Given the description of an element on the screen output the (x, y) to click on. 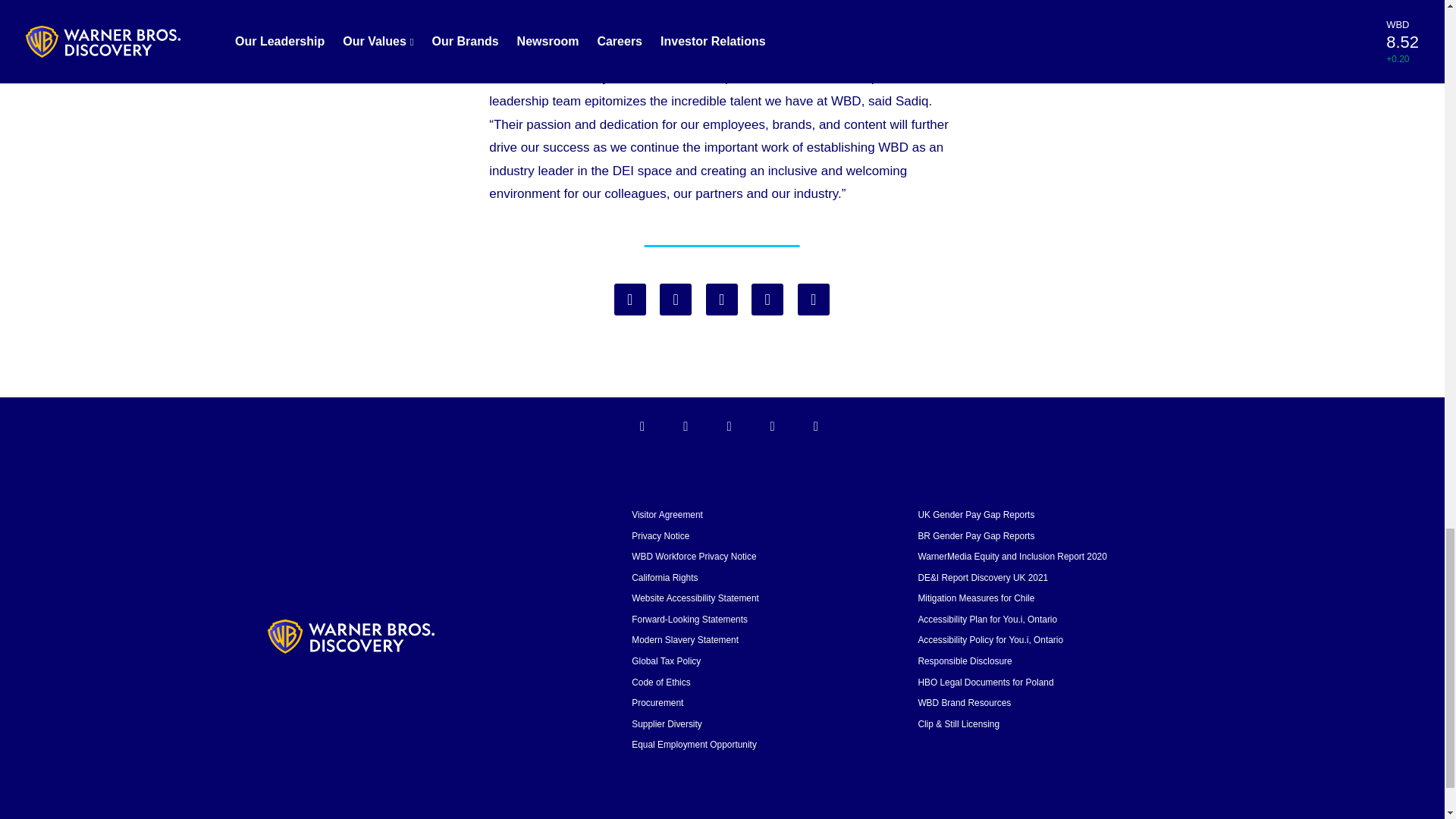
Website Accessibility Statement (694, 597)
Code of Ethics (660, 682)
BR Gender Pay Gap Reports (975, 535)
Accessibility Plan for You.i, Ontario (987, 619)
California Rights (664, 577)
Supplier Diversity (666, 724)
Global Tax Policy (665, 661)
Mitigation Measures for Chile (975, 597)
Forward-Looking Statements (689, 619)
Procurement (656, 702)
WarnerMedia Equity and Inclusion Report 2020 (1011, 556)
WBD Workforce Privacy Notice (693, 556)
Modern Slavery Statement (684, 639)
Visitor Agreement (667, 514)
UK Gender Pay Gap Reports (975, 514)
